Given the description of an element on the screen output the (x, y) to click on. 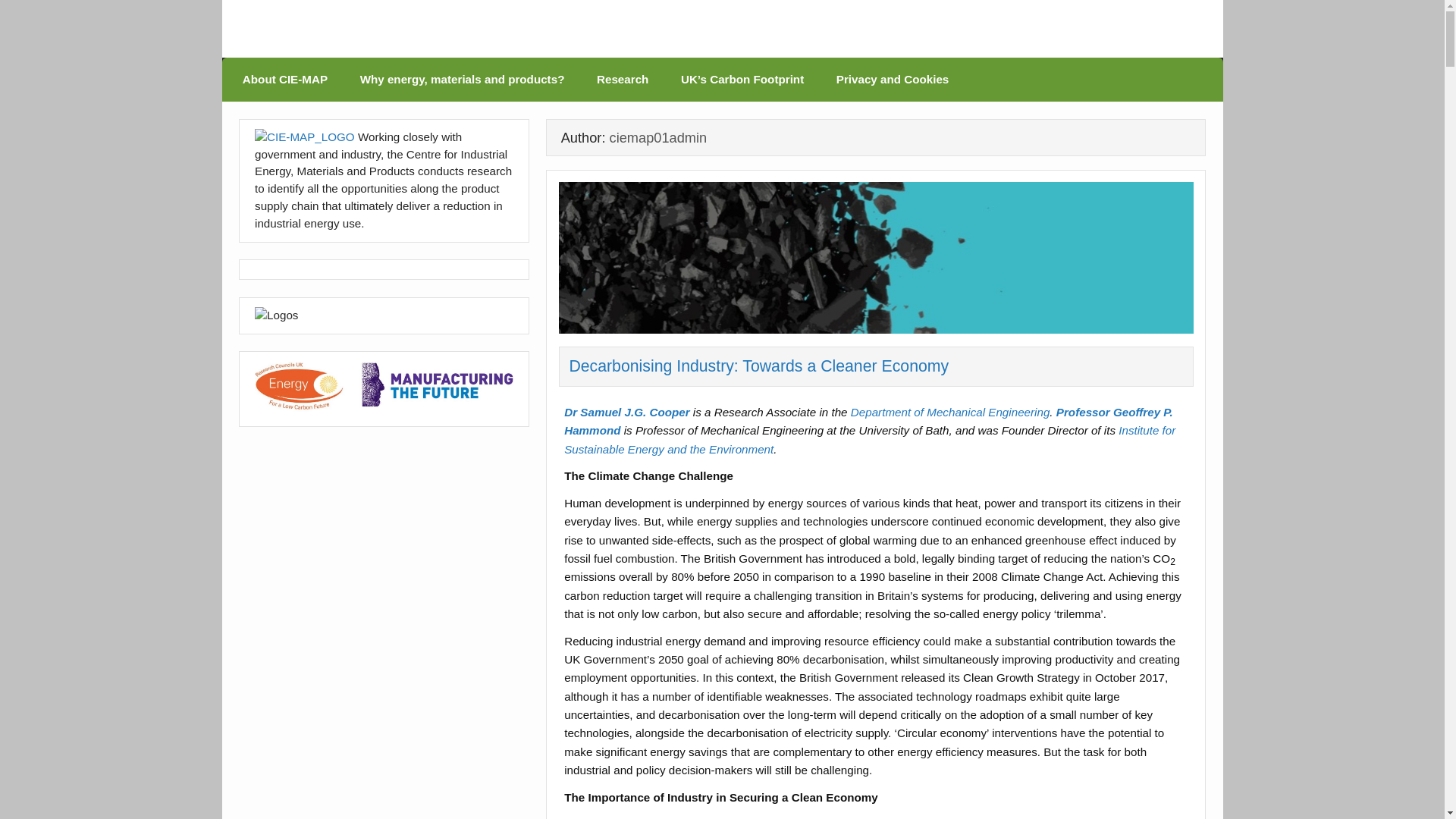
Institute for Sustainable Energy and the Environment (869, 439)
Why energy, materials and products? (461, 79)
Privacy and Cookies (891, 79)
Department of Mechanical Engineering (949, 411)
About CIE-MAP (285, 79)
Dr Samuel J.G. Cooper (626, 411)
Research (622, 79)
Decarbonising Industry: Towards a Cleaner Economy (759, 366)
Professor Geoffrey P. Hammond (868, 420)
Centre for Industrial Energy, Materials and Products (595, 51)
